Given the description of an element on the screen output the (x, y) to click on. 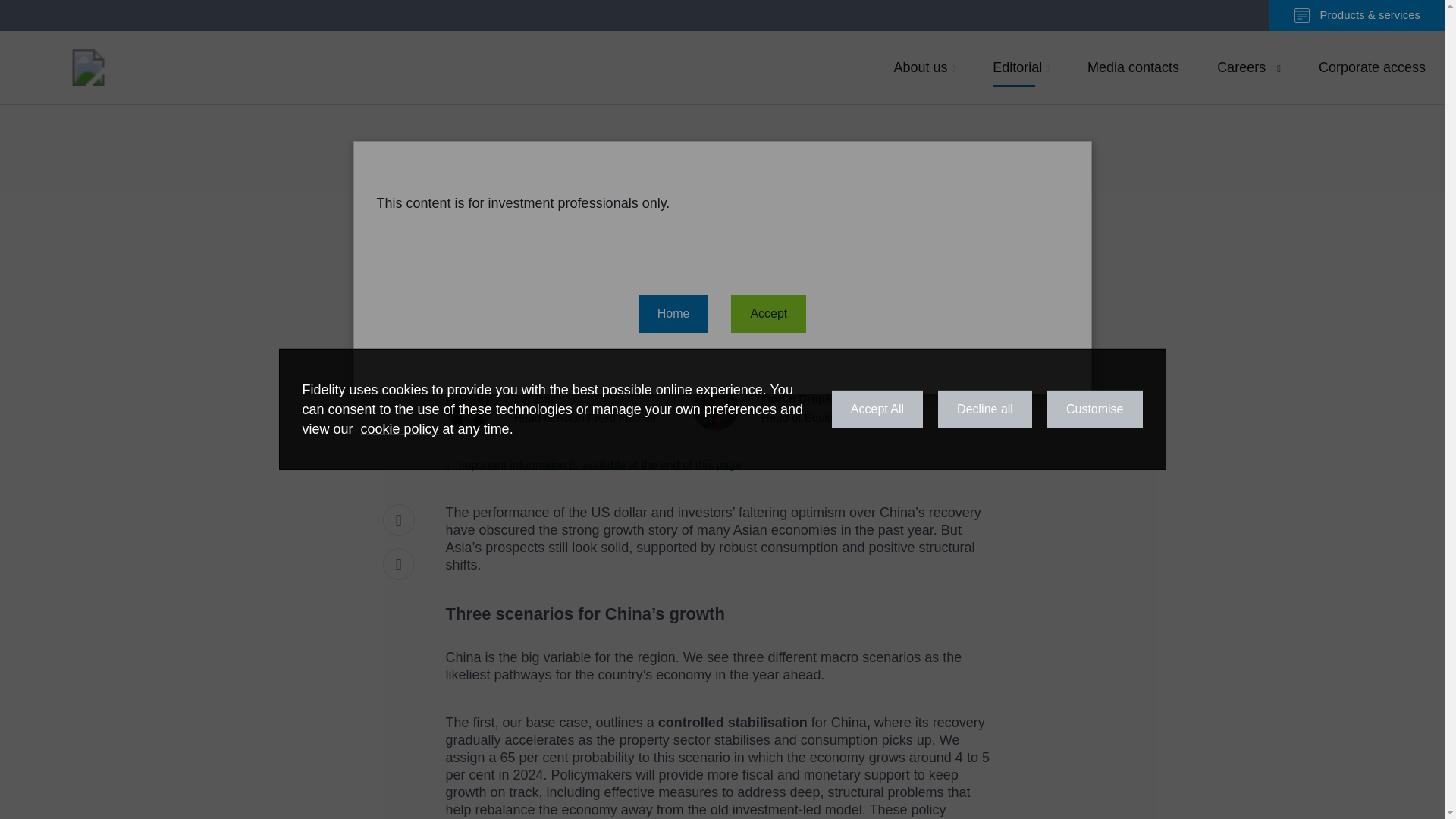
Editorial (560, 408)
About us (1021, 66)
Media contacts (924, 66)
Corporate access (1133, 66)
Careers (1372, 66)
disclaimer (800, 408)
Fidelity International Logo (1248, 66)
Martin Dropkin (593, 463)
